Given the description of an element on the screen output the (x, y) to click on. 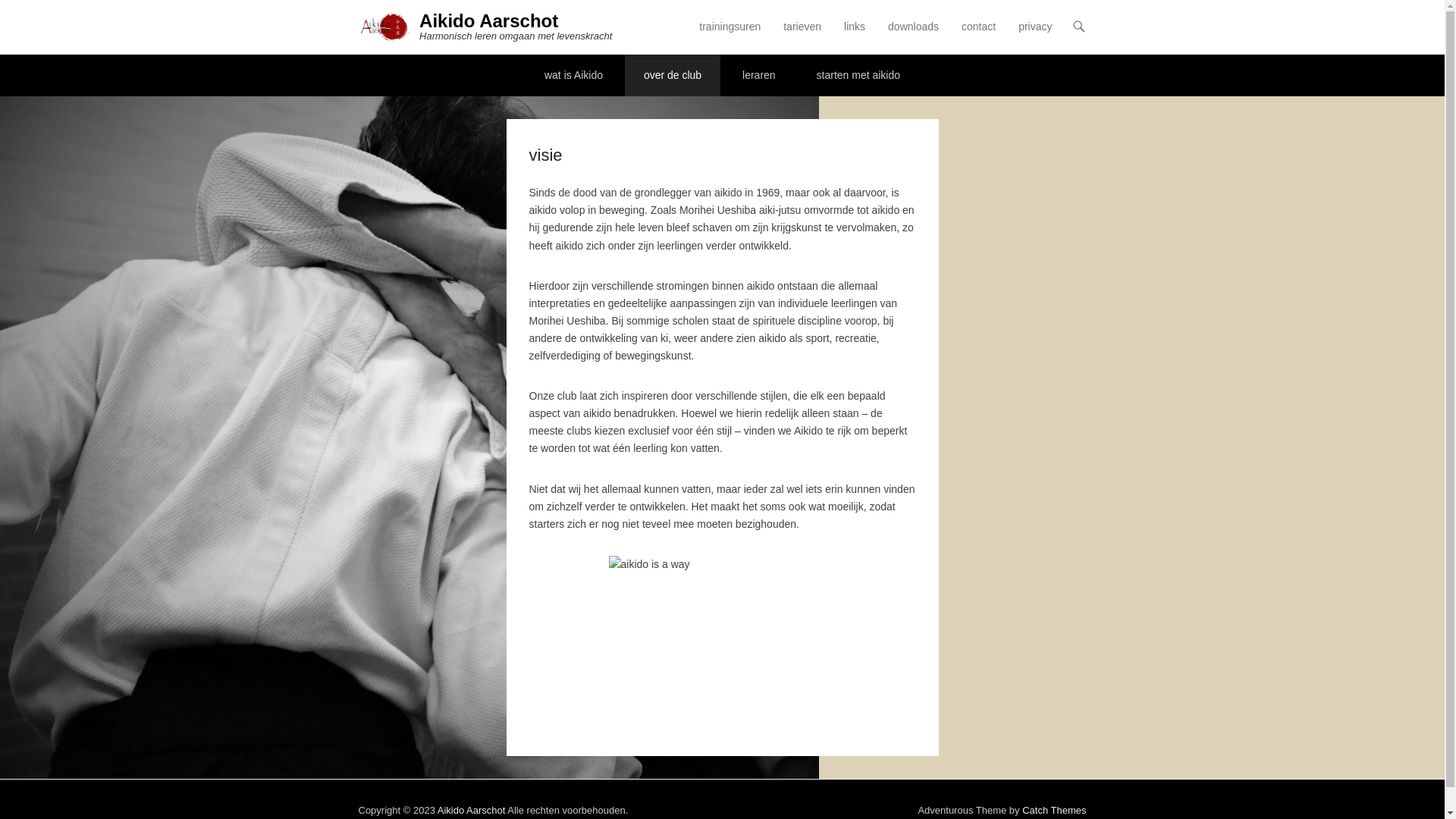
contact Element type: text (978, 35)
Ga naar de inhoud Element type: text (735, 27)
leraren Element type: text (758, 75)
over de club Element type: text (672, 75)
links Element type: text (854, 35)
trainingsuren Element type: text (729, 35)
Aikido Aarschot Element type: text (488, 20)
Catch Themes Element type: text (1053, 809)
wat is Aikido Element type: text (573, 75)
downloads Element type: text (913, 35)
privacy Element type: text (1034, 35)
Aikido Aarschot Element type: text (471, 809)
starten met aikido Element type: text (858, 75)
tarieven Element type: text (801, 35)
